Given the description of an element on the screen output the (x, y) to click on. 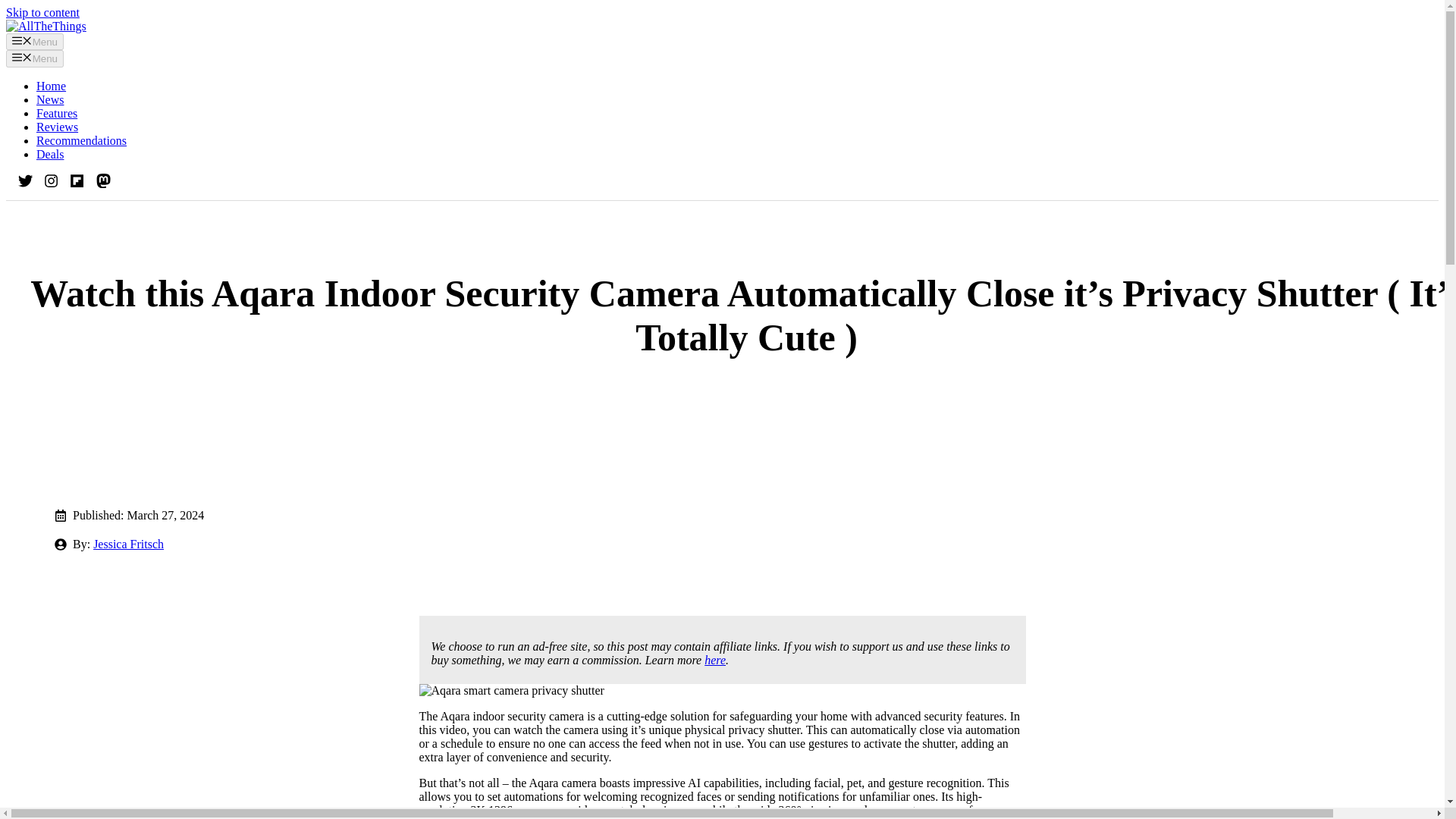
Skip to content (42, 11)
VIDEO (349, 480)
Reviews (57, 126)
SMART CAMERA (253, 480)
Features (56, 113)
Skip to content (42, 11)
Menu (34, 41)
News (50, 99)
NEWS (85, 480)
Recommendations (81, 140)
